Given the description of an element on the screen output the (x, y) to click on. 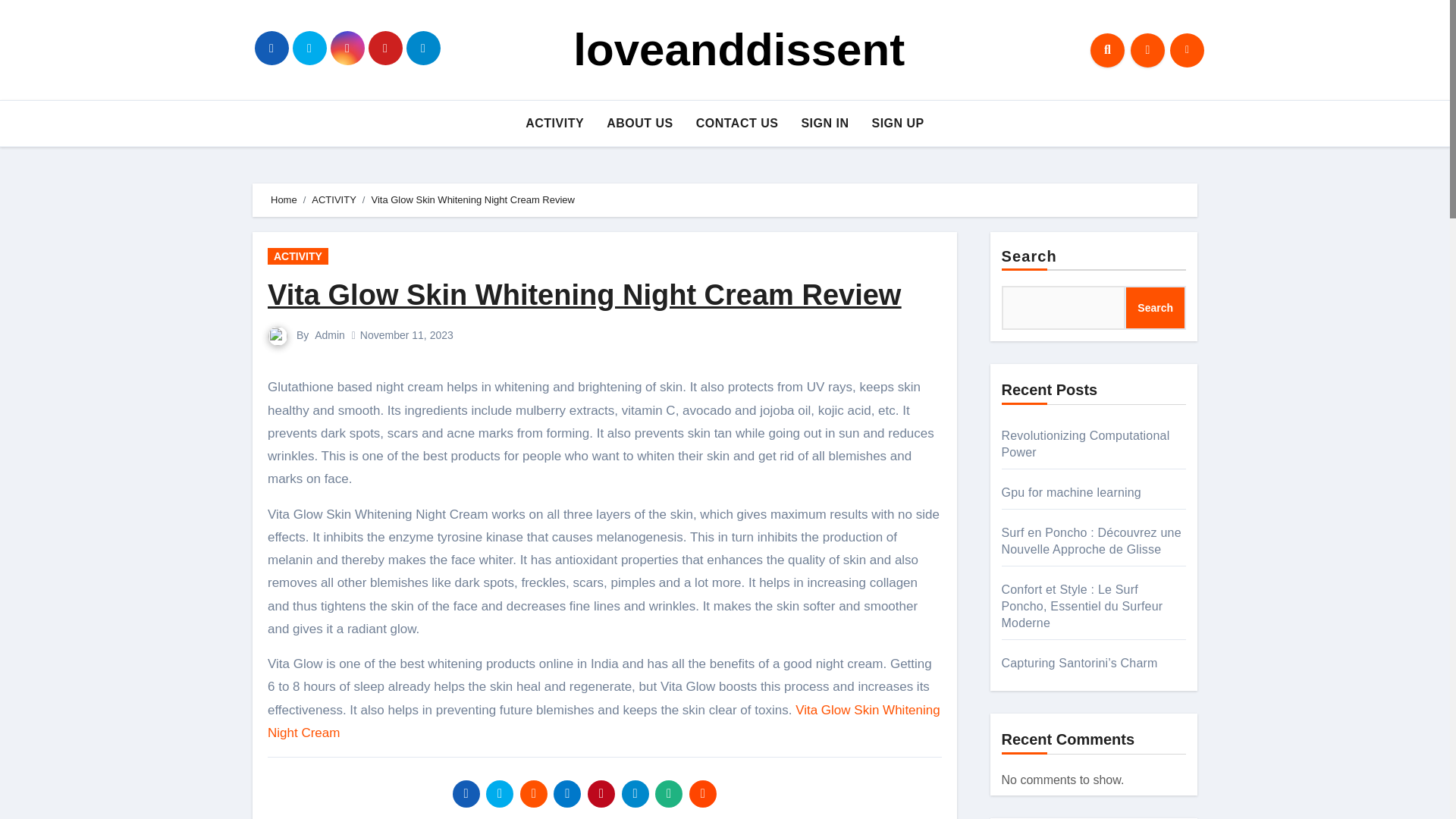
Vita Glow Skin Whitening Night Cream Review (584, 295)
SIGN IN (824, 123)
SIGN UP (897, 123)
SIGN IN (824, 123)
Vita Glow Skin Whitening Night Cream (603, 721)
Permalink to: Vita Glow Skin Whitening Night Cream Review (584, 295)
ACTIVITY (298, 256)
Home (283, 199)
ABOUT US (639, 123)
CONTACT US (737, 123)
Admin (329, 335)
ABOUT US (639, 123)
CONTACT US (737, 123)
loveanddissent (738, 49)
ACTIVITY (554, 123)
